Given the description of an element on the screen output the (x, y) to click on. 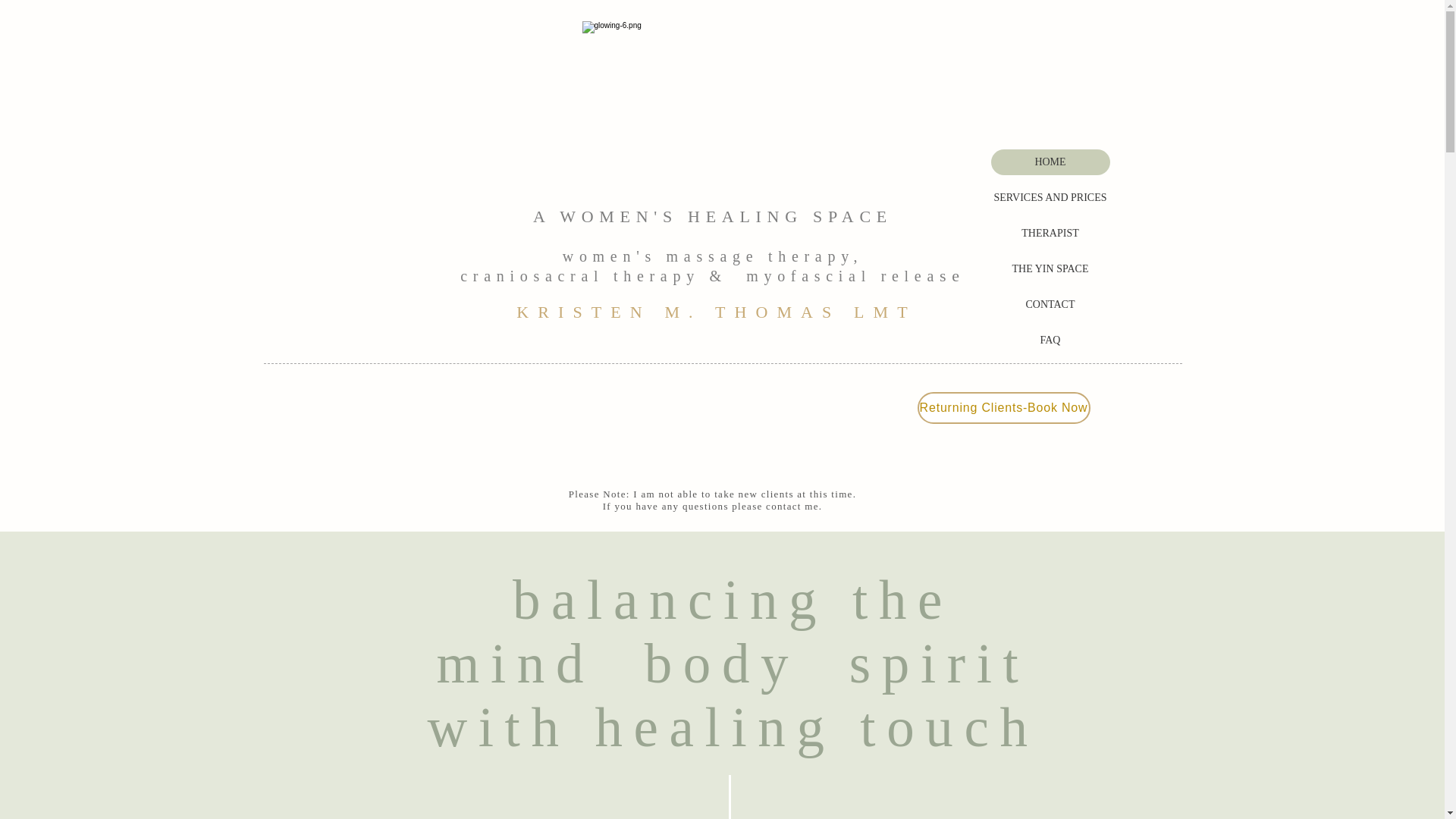
THERAPIST (1049, 233)
CONTACT (1049, 304)
HOME (1049, 162)
FAQ (1049, 339)
Returning Clients-Book Now (1003, 408)
SERVICES AND PRICES (1049, 197)
THE YIN SPACE (1049, 268)
